Given the description of an element on the screen output the (x, y) to click on. 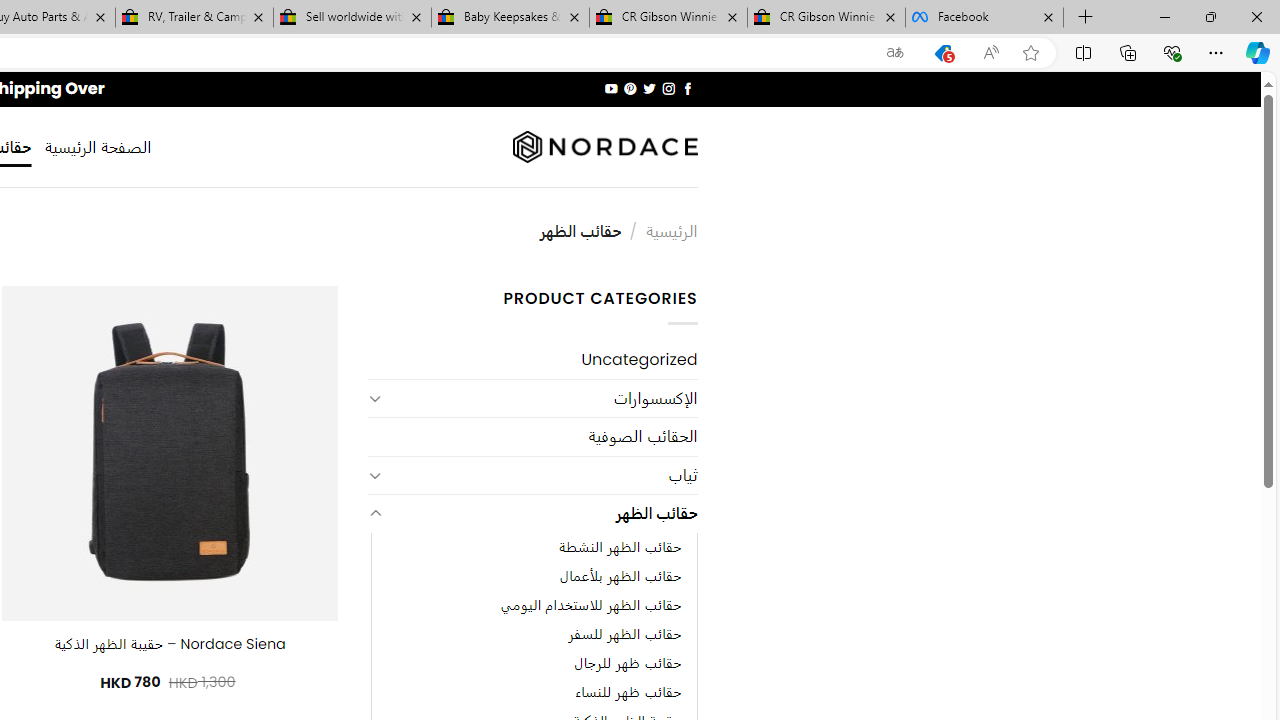
Sell worldwide with eBay (352, 17)
Follow on Instagram (667, 88)
This site has coupons! Shopping in Microsoft Edge, 5 (943, 53)
Show translate options (895, 53)
